Given the description of an element on the screen output the (x, y) to click on. 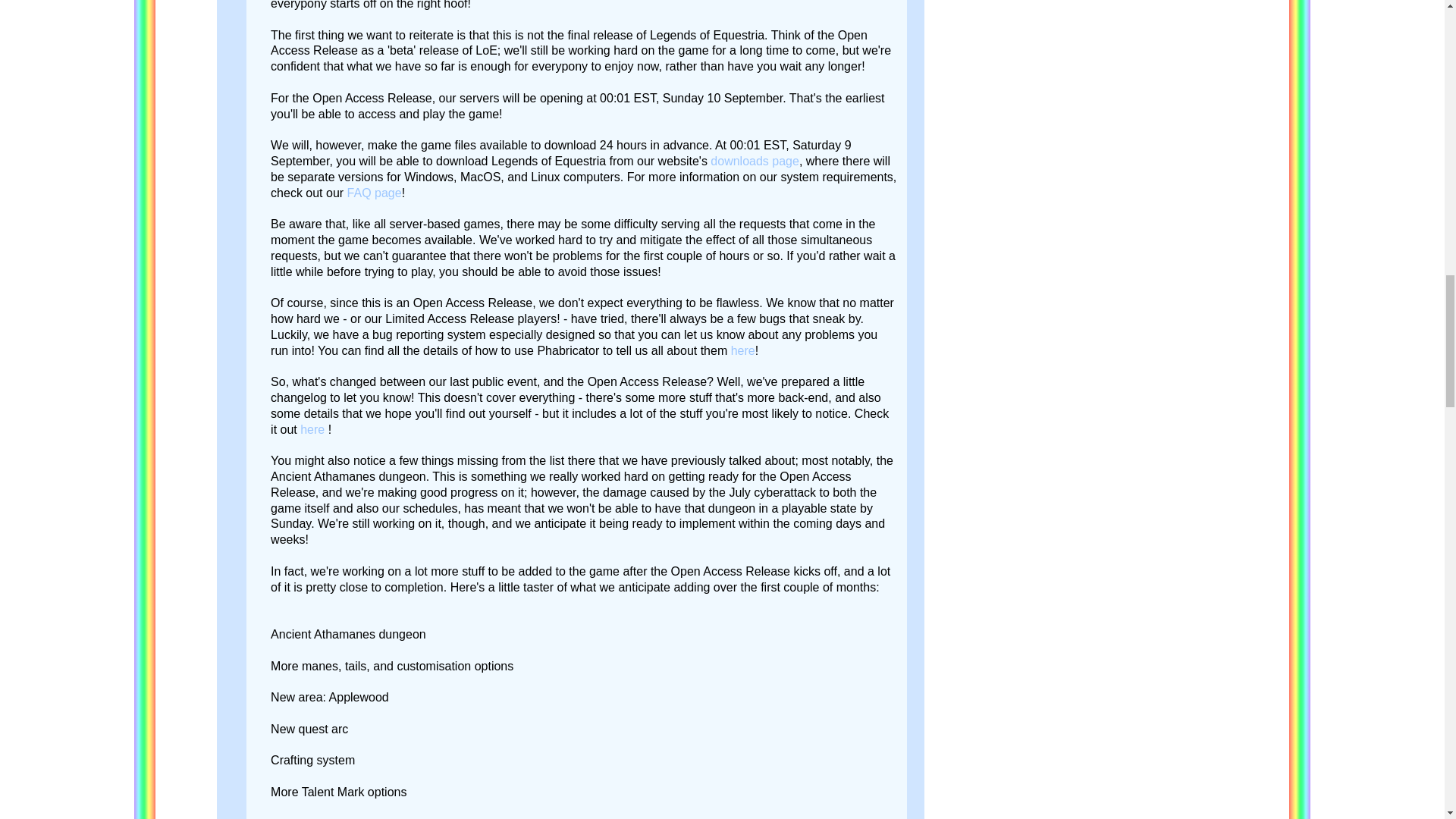
here (742, 350)
downloads page (754, 160)
here (313, 429)
FAQ page (374, 192)
